Given the description of an element on the screen output the (x, y) to click on. 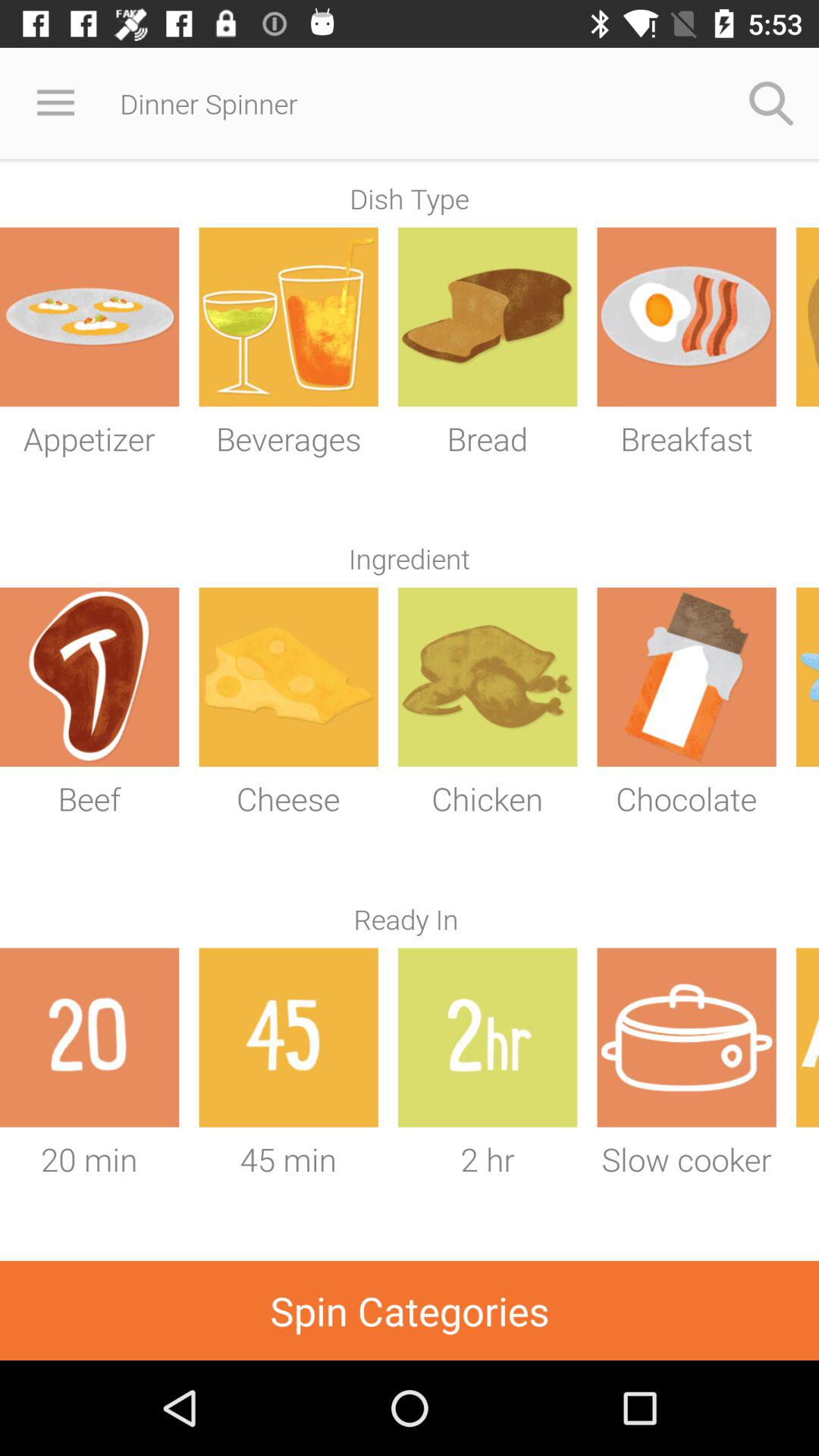
swipe to spin categories item (409, 1310)
